Given the description of an element on the screen output the (x, y) to click on. 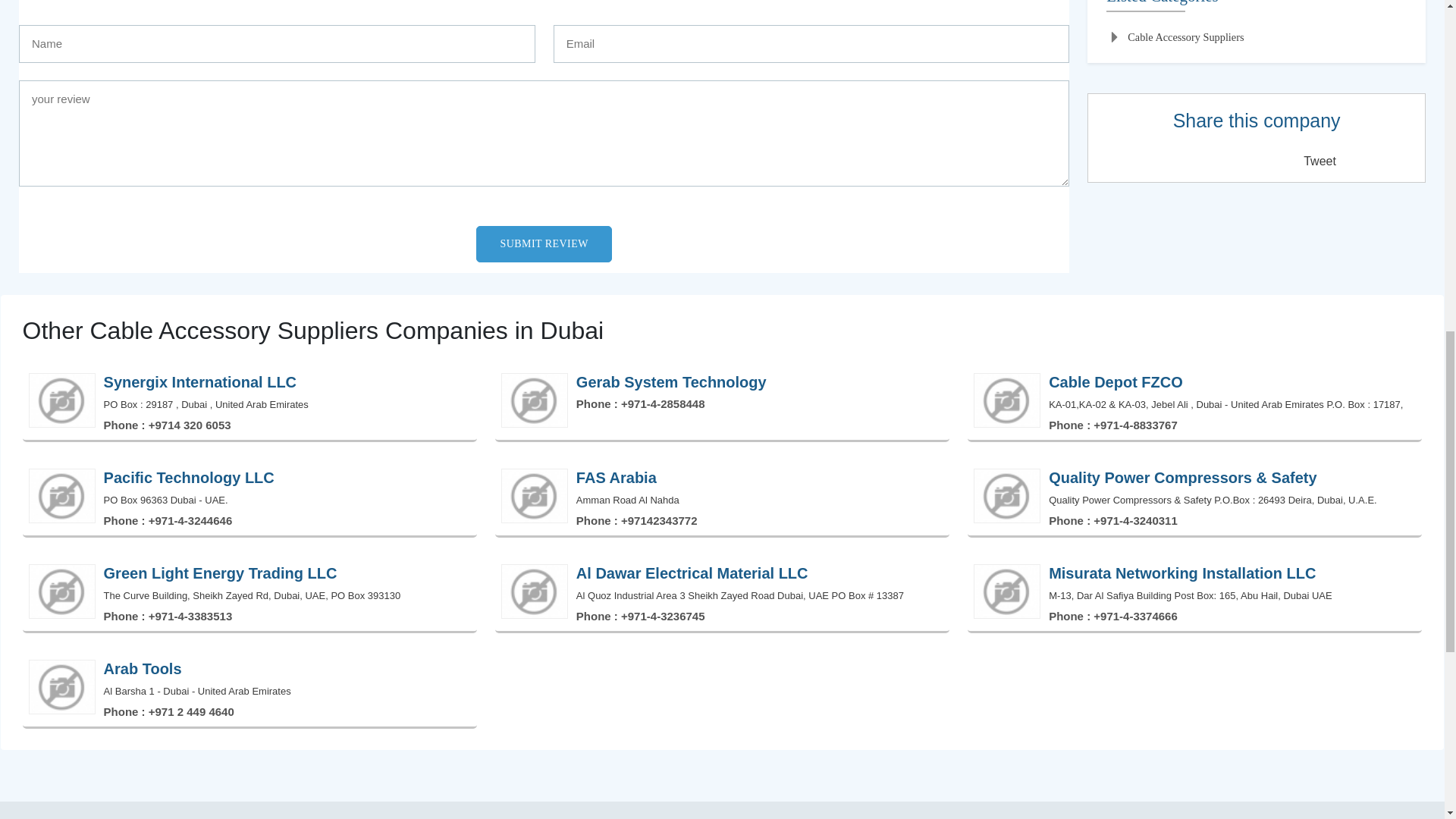
list of companies in Cable Accessory Suppliers (1174, 37)
Tweet (1319, 160)
 Cable Accessory Suppliers Companies in Dubai (722, 330)
Stratallig Trading LLC listed in category  (1256, 6)
Cable Accessory Suppliers (1174, 37)
Submit Review (543, 244)
